Given the description of an element on the screen output the (x, y) to click on. 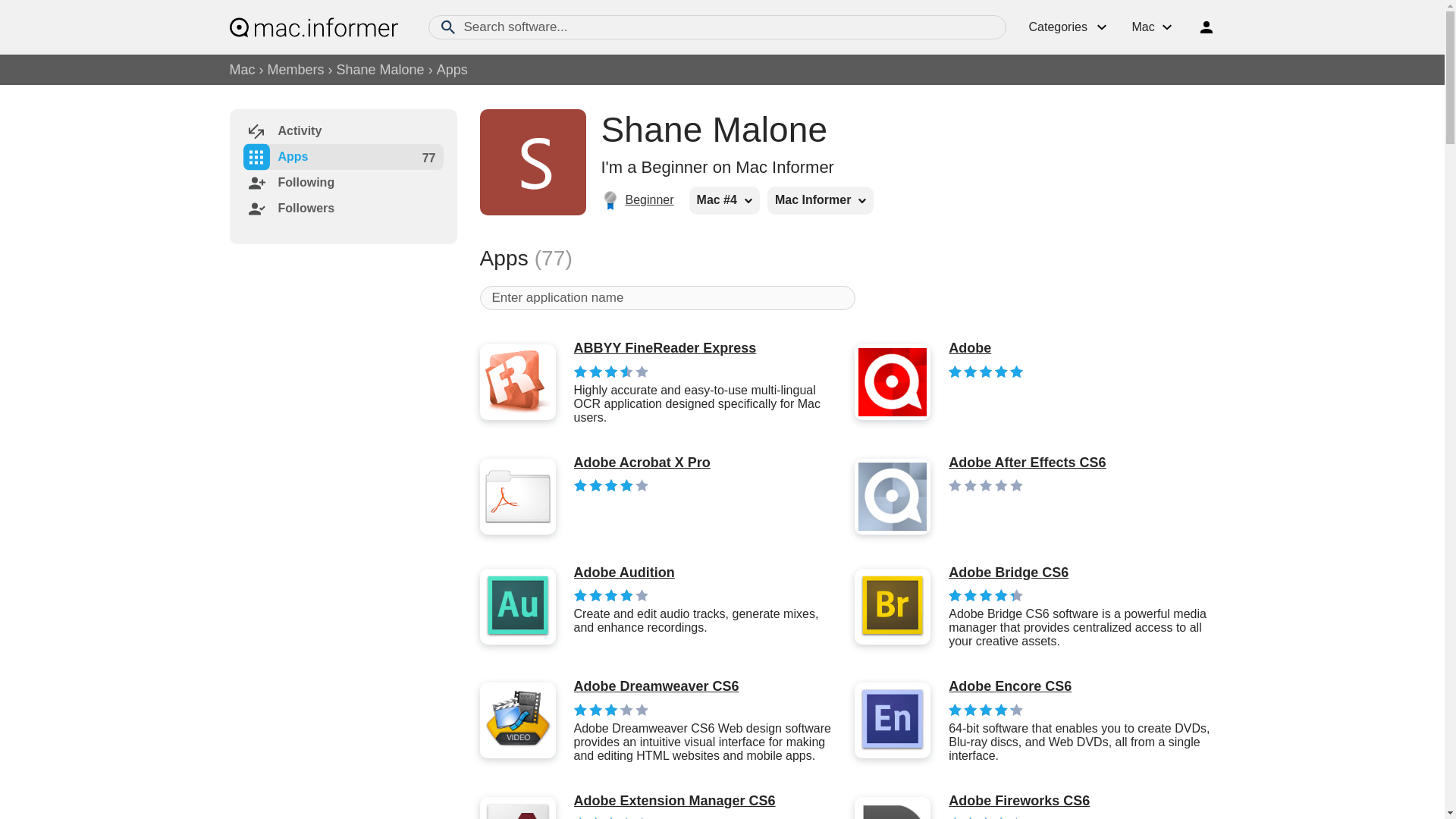
Following (288, 182)
Shane Malone (713, 129)
Download Adobe Extension Manager CS6 (673, 801)
Adobe Audition (706, 573)
Download Adobe Acrobat X Pro (641, 463)
Search software... (717, 27)
Download ABBYY FineReader Express (706, 348)
Download Adobe Encore CS6 (1081, 686)
Apps (275, 156)
